Given the description of an element on the screen output the (x, y) to click on. 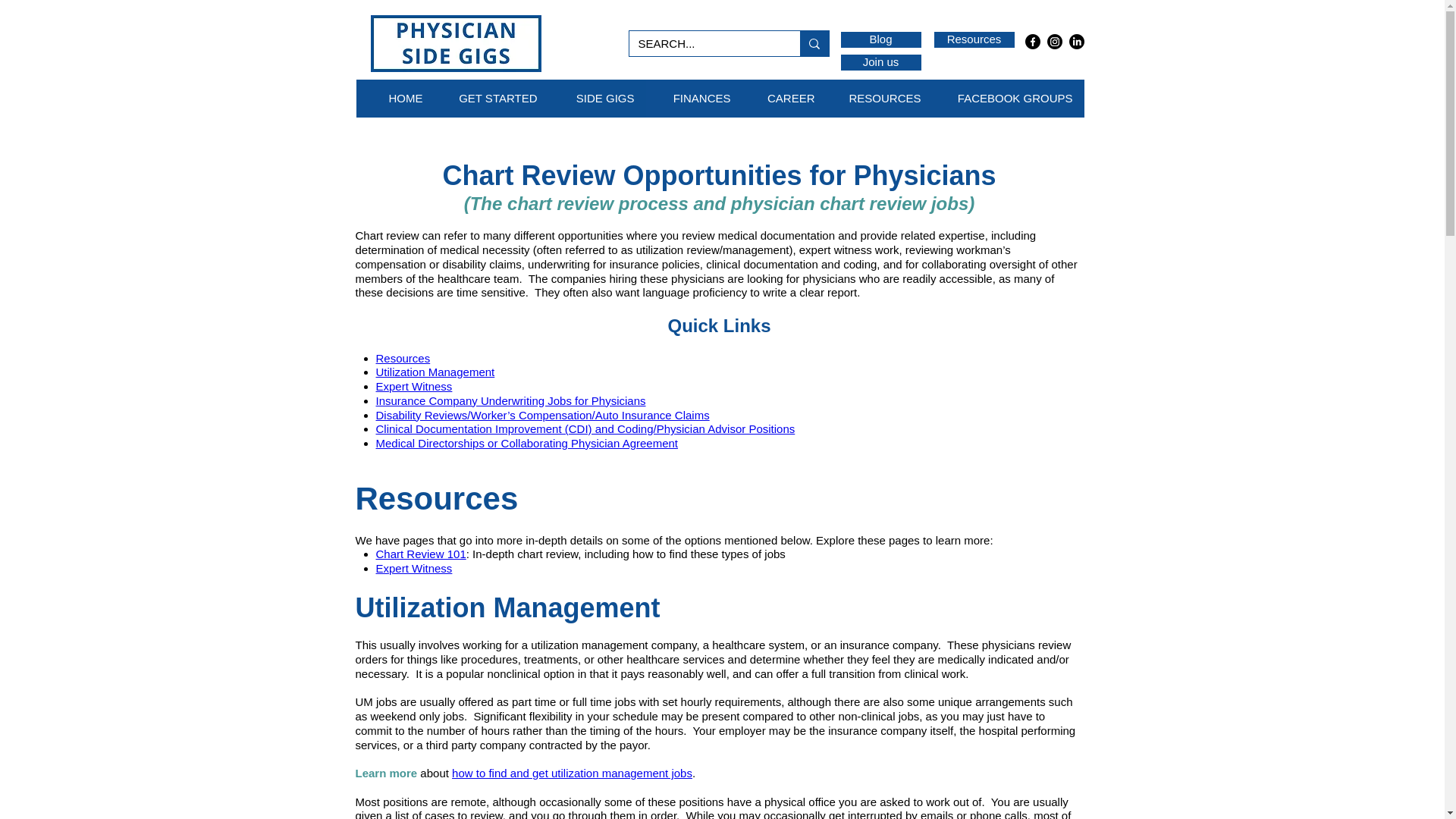
Resources (974, 39)
HOME (394, 98)
GET STARTED (490, 98)
SIDE GIGS (597, 98)
FINANCES (694, 98)
Join us (879, 62)
Blog (879, 39)
